Given the description of an element on the screen output the (x, y) to click on. 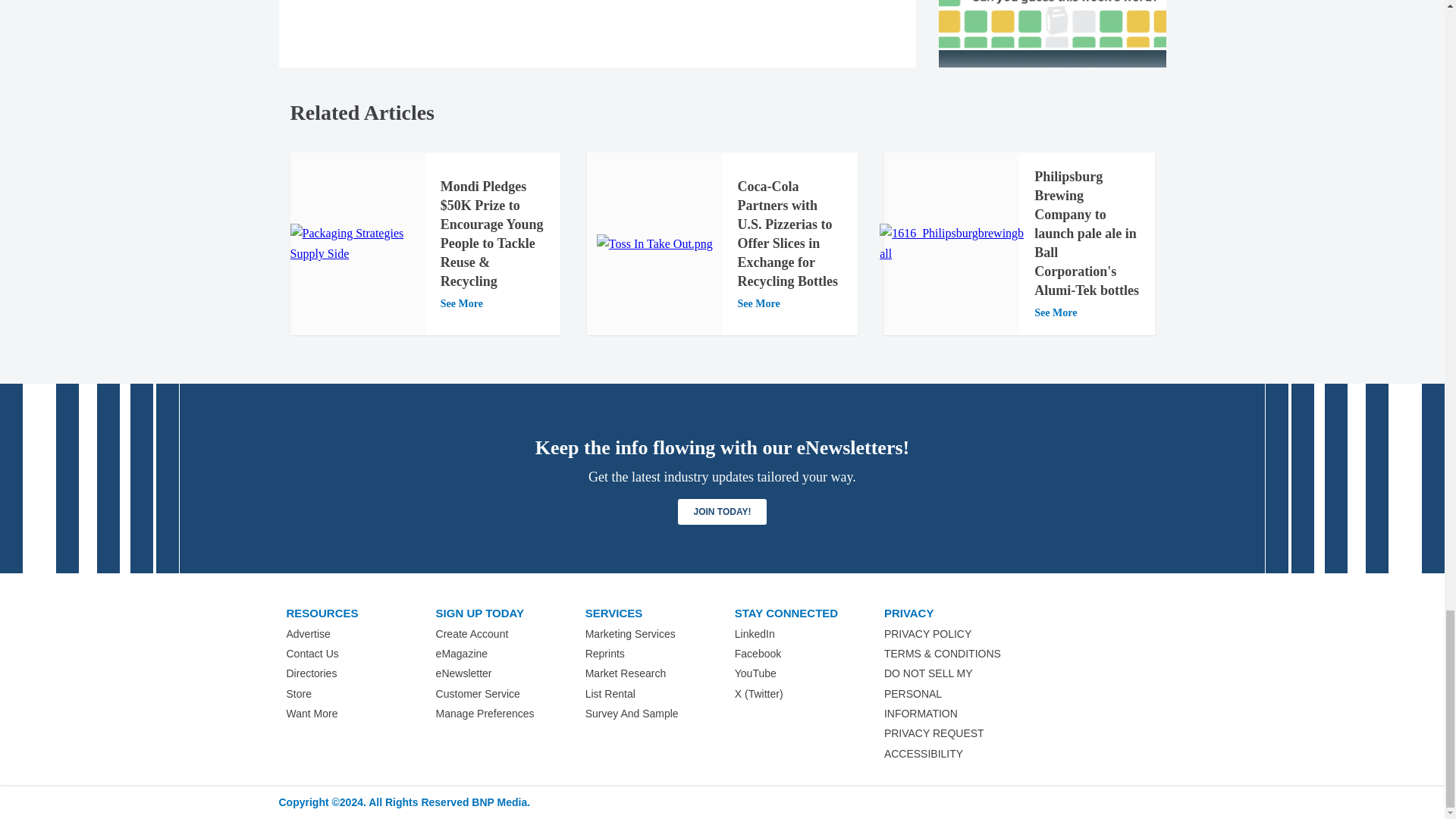
Toss In Take Out.png (654, 243)
Supply Side (357, 243)
